Given the description of an element on the screen output the (x, y) to click on. 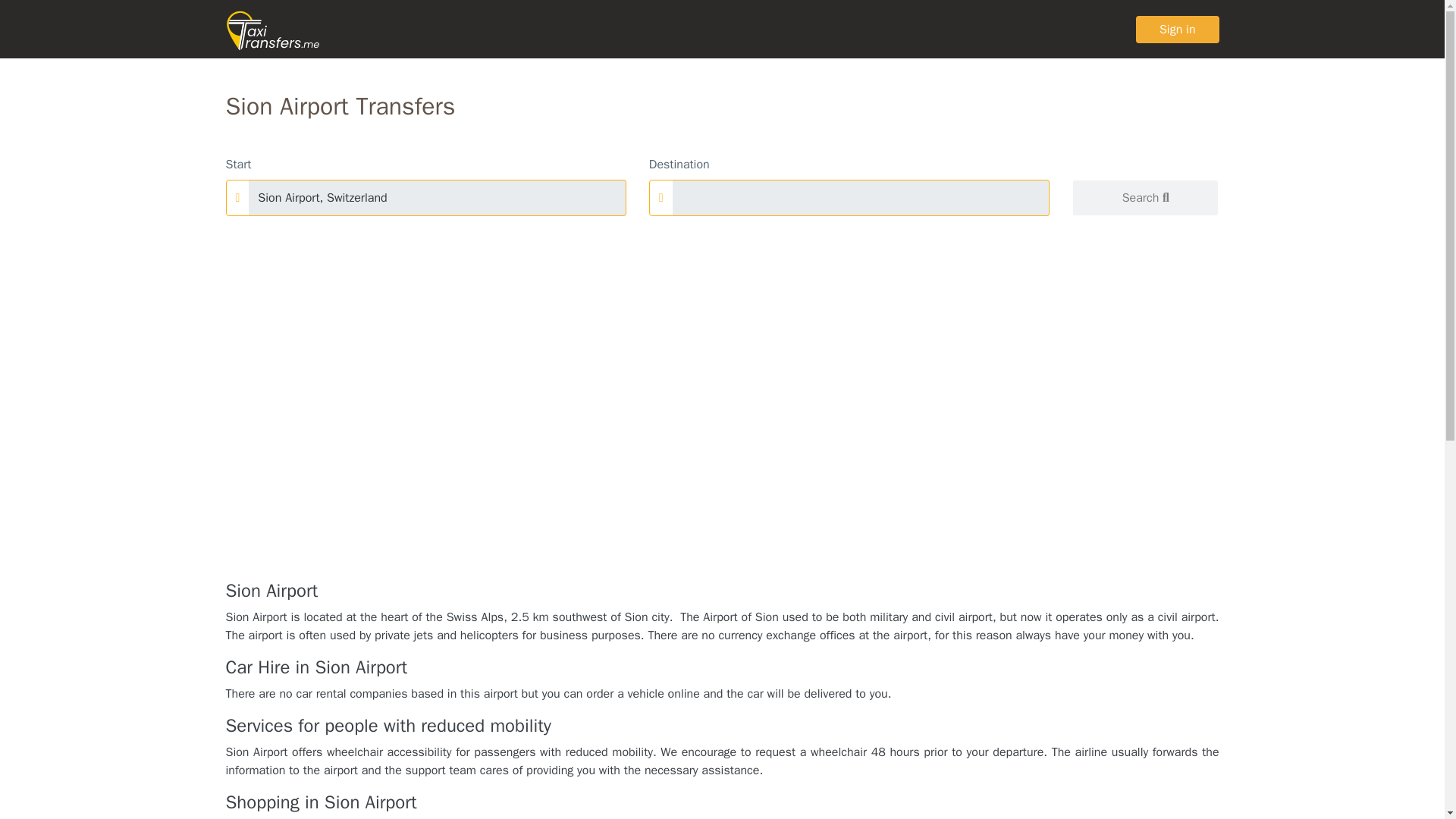
Sion Airport, Switzerland (437, 197)
Sign in (1177, 28)
Search (1144, 197)
